Given the description of an element on the screen output the (x, y) to click on. 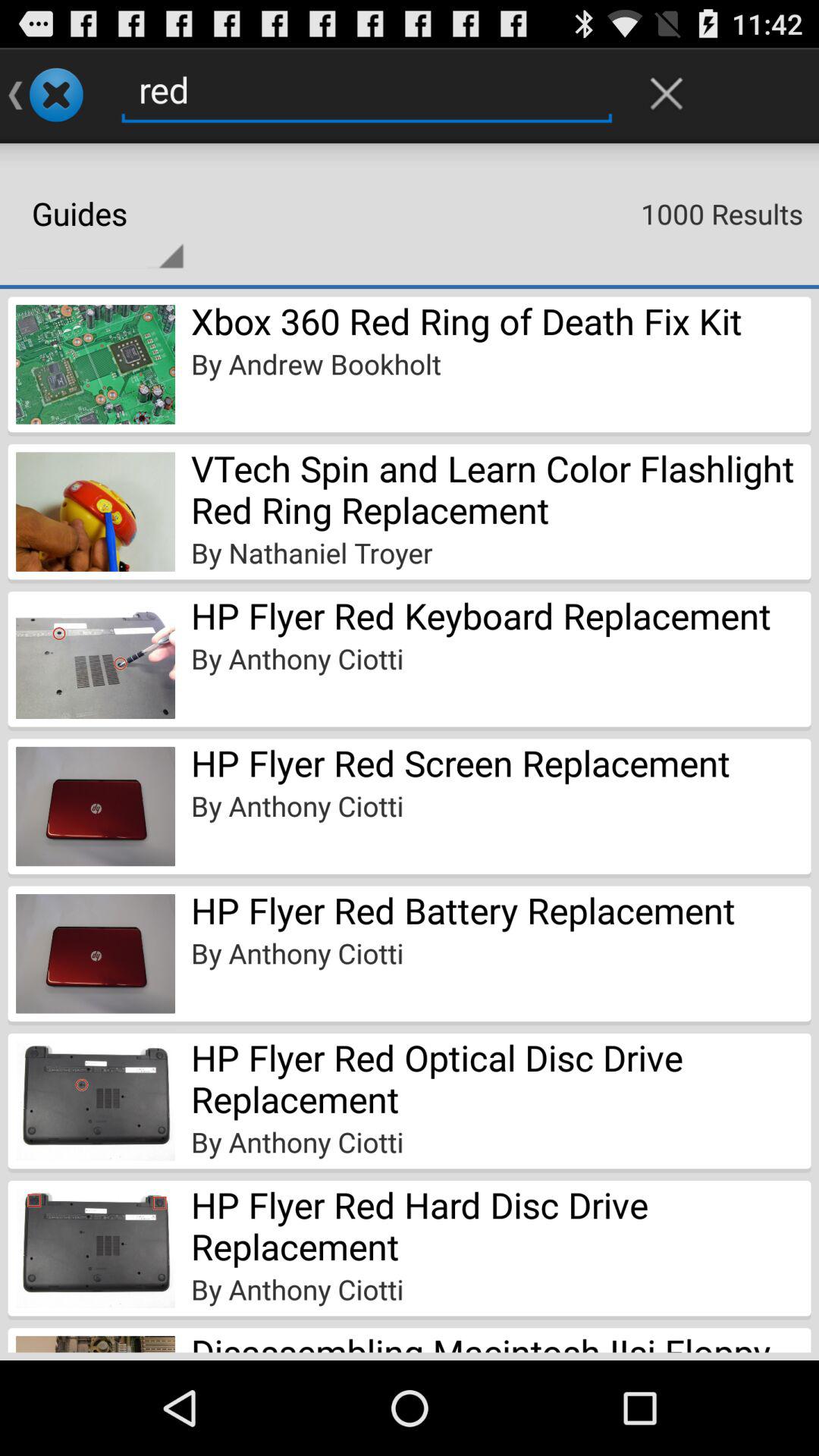
scroll until the by nathaniel troyer icon (311, 552)
